Given the description of an element on the screen output the (x, y) to click on. 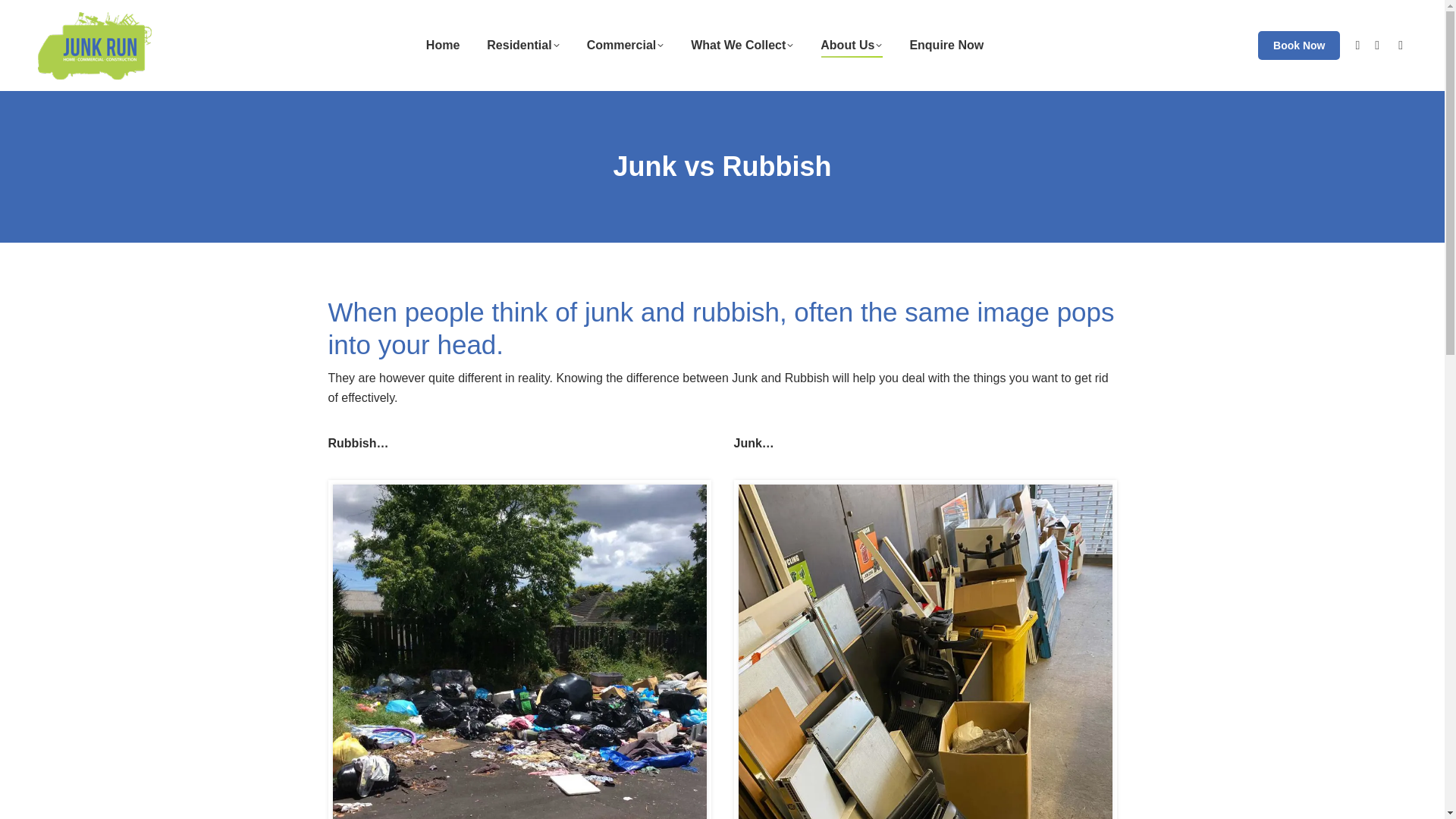
Residential (522, 44)
Commercial (624, 44)
About Us (850, 44)
Rubbish - Junk Run (518, 651)
Junk - Junk Run (925, 651)
What We Collect (741, 44)
